Given the description of an element on the screen output the (x, y) to click on. 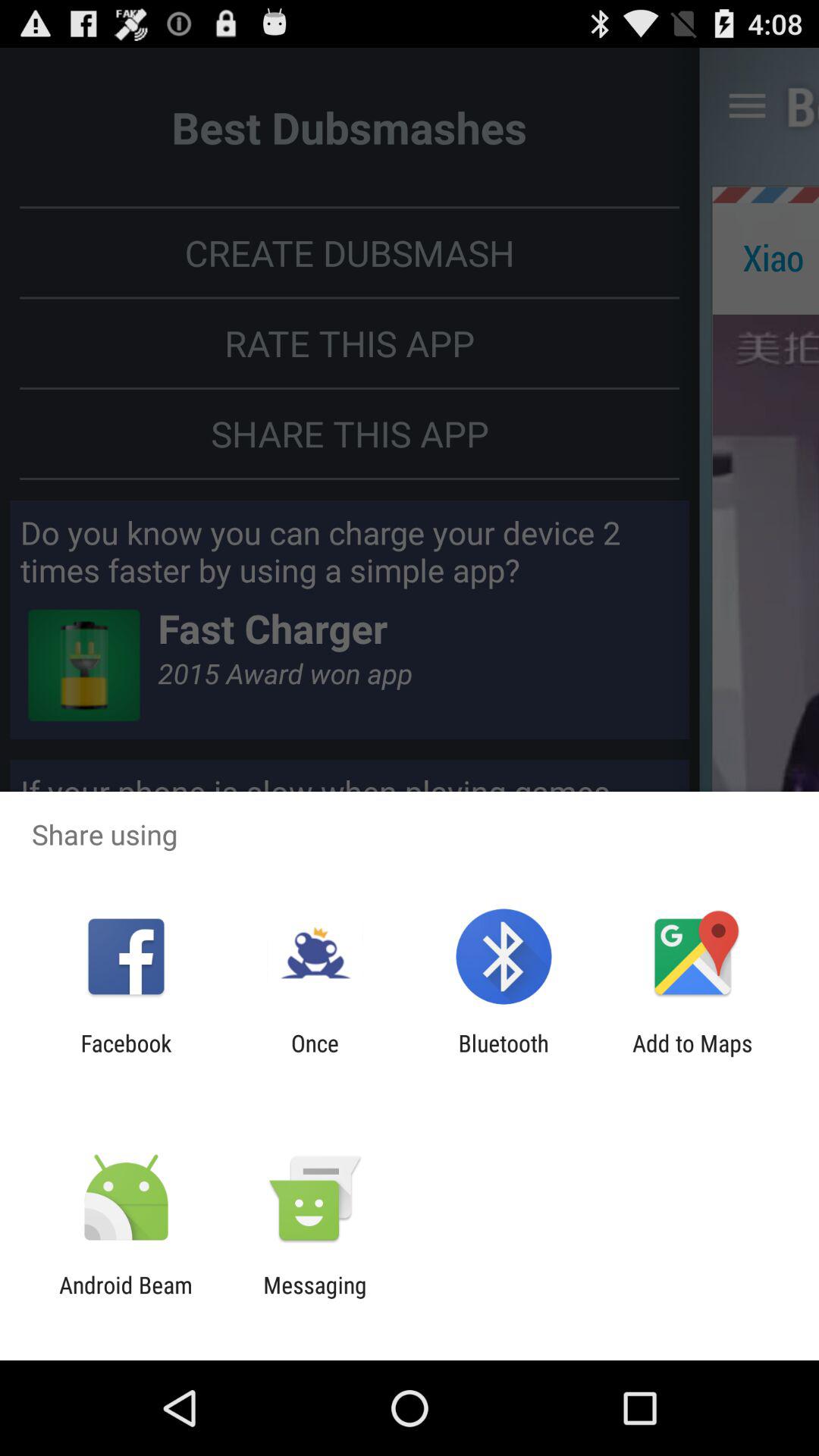
flip until the bluetooth icon (503, 1056)
